Given the description of an element on the screen output the (x, y) to click on. 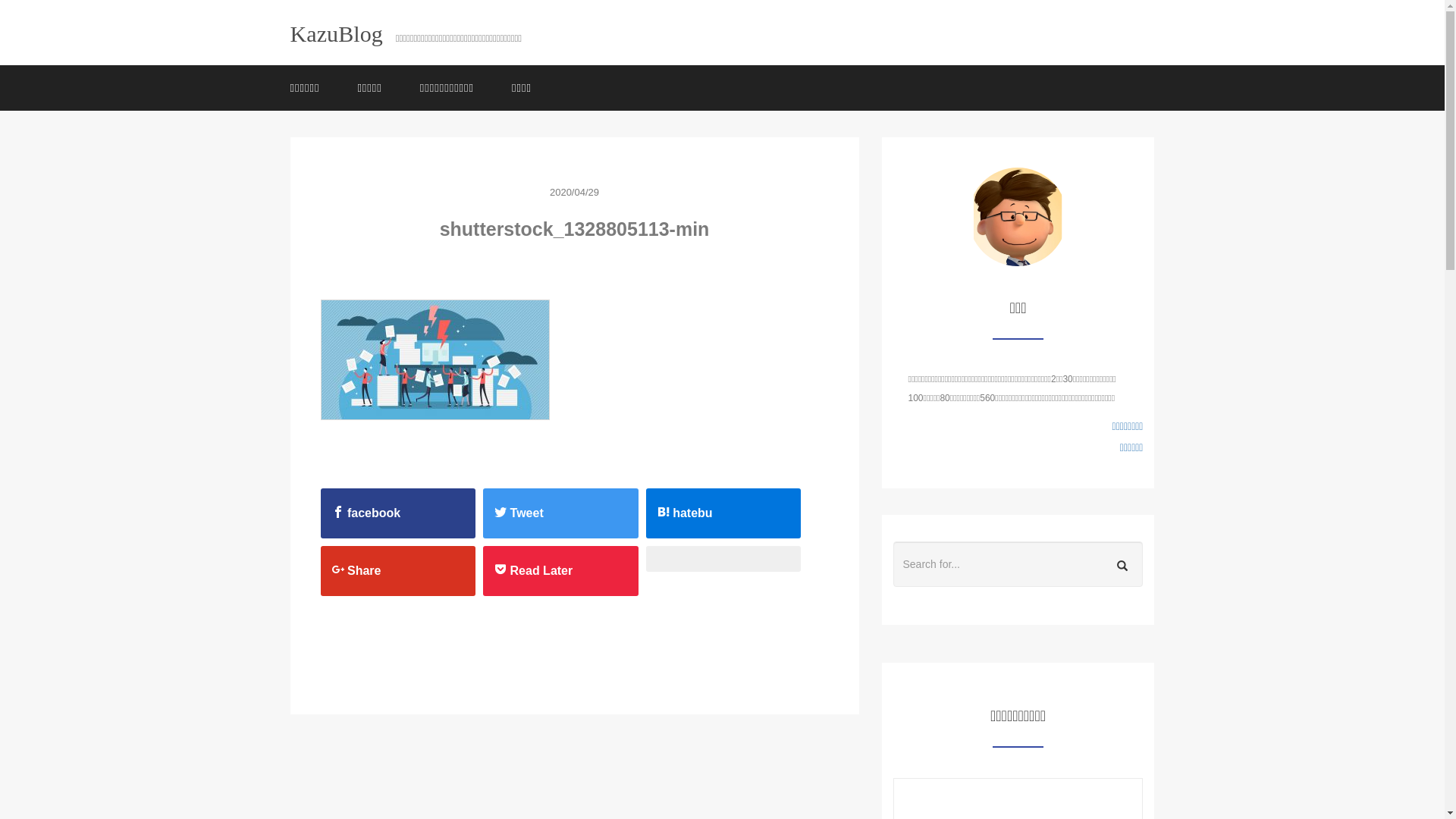
Share Element type: text (398, 571)
facebook Element type: text (398, 513)
hatebu Element type: text (723, 513)
Read Later Element type: text (560, 571)
Tweet Element type: text (560, 513)
